Given the description of an element on the screen output the (x, y) to click on. 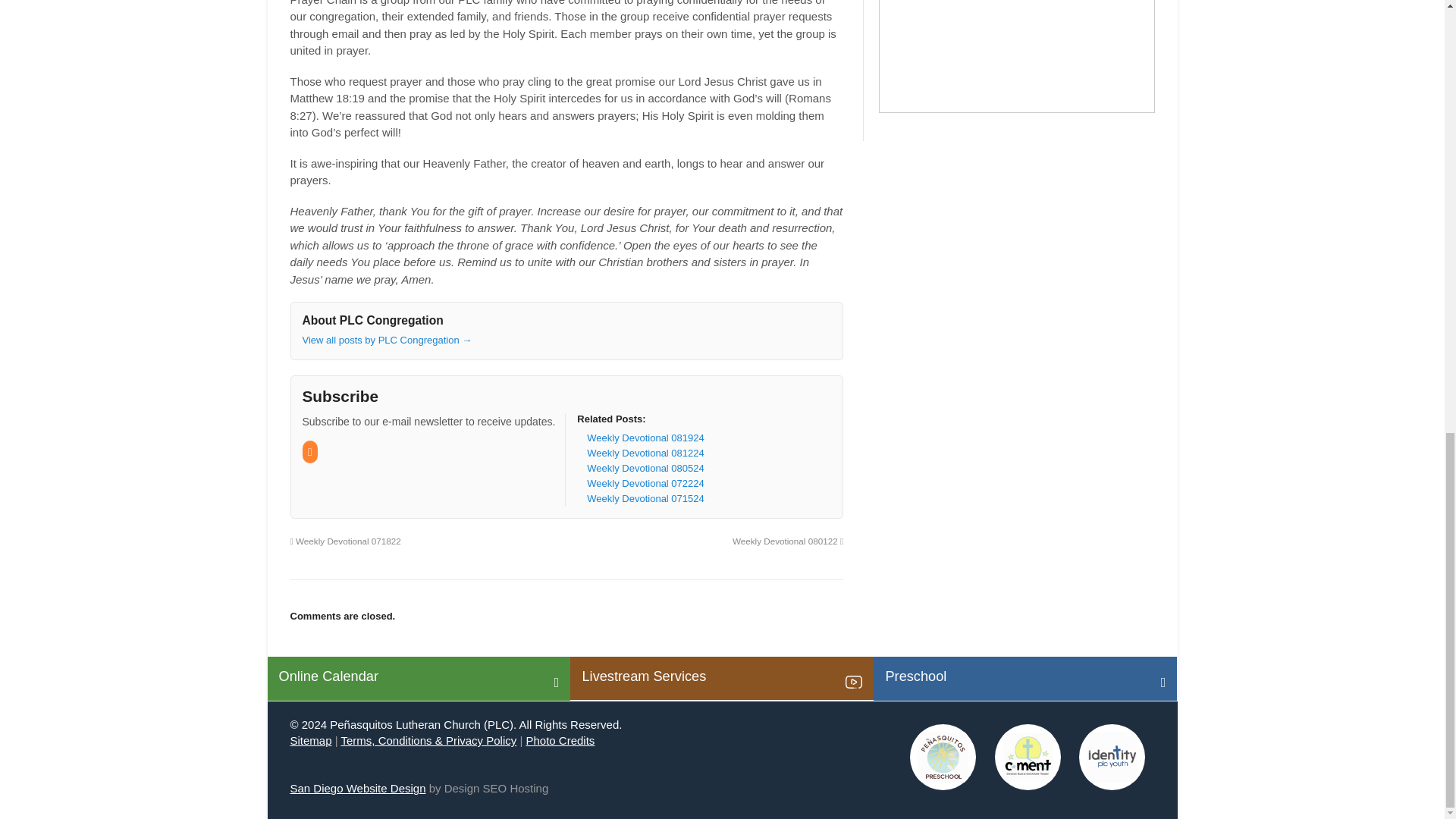
Weekly Devotional 072224 (644, 482)
Weekly Devotional 081924 (644, 437)
RSS (309, 451)
Weekly Devotional 081224 (644, 452)
Weekly Devotional 071524 (644, 498)
Weekly Devotional 080524 (644, 468)
